Given the description of an element on the screen output the (x, y) to click on. 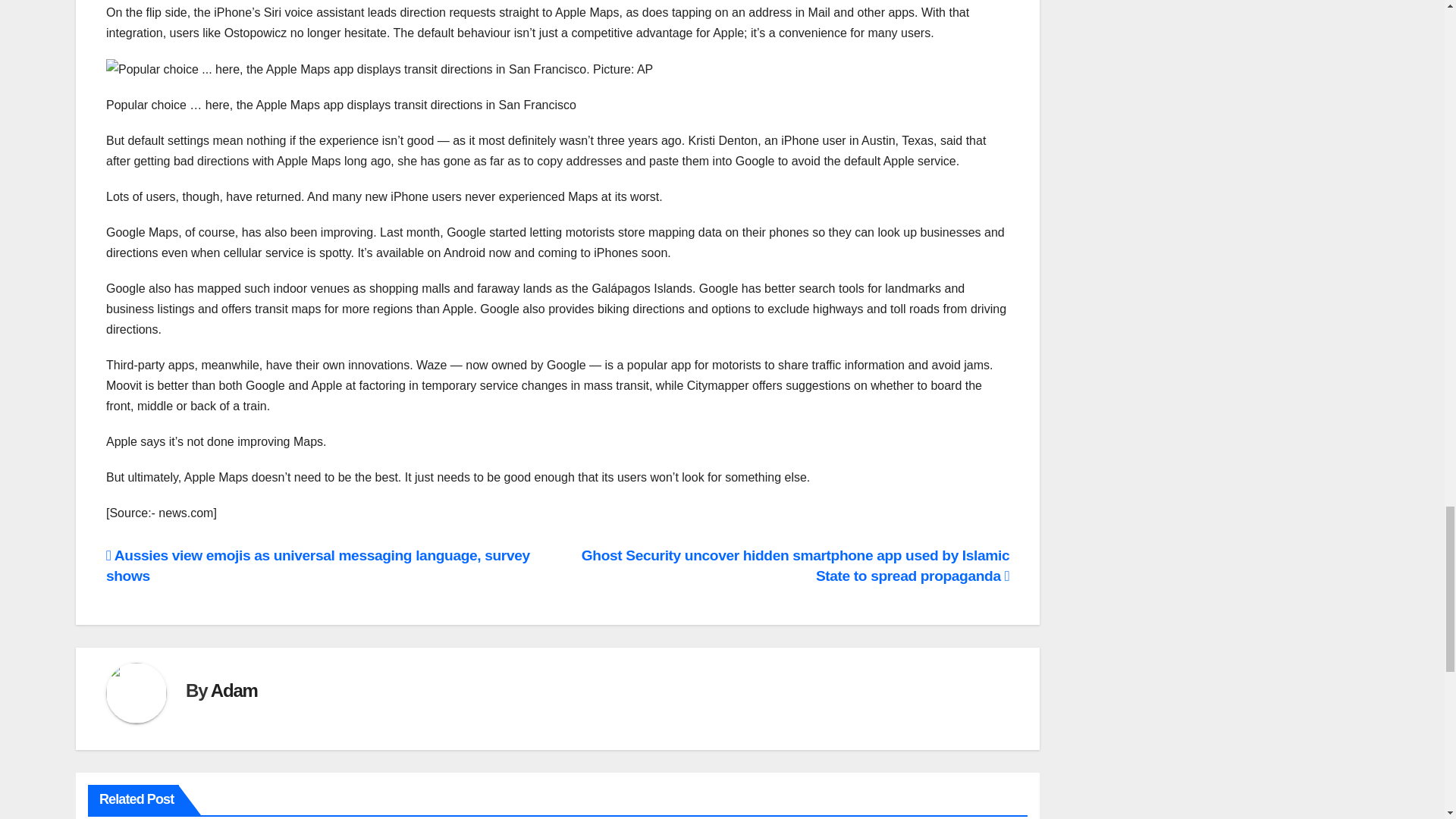
Adam (234, 690)
